Given the description of an element on the screen output the (x, y) to click on. 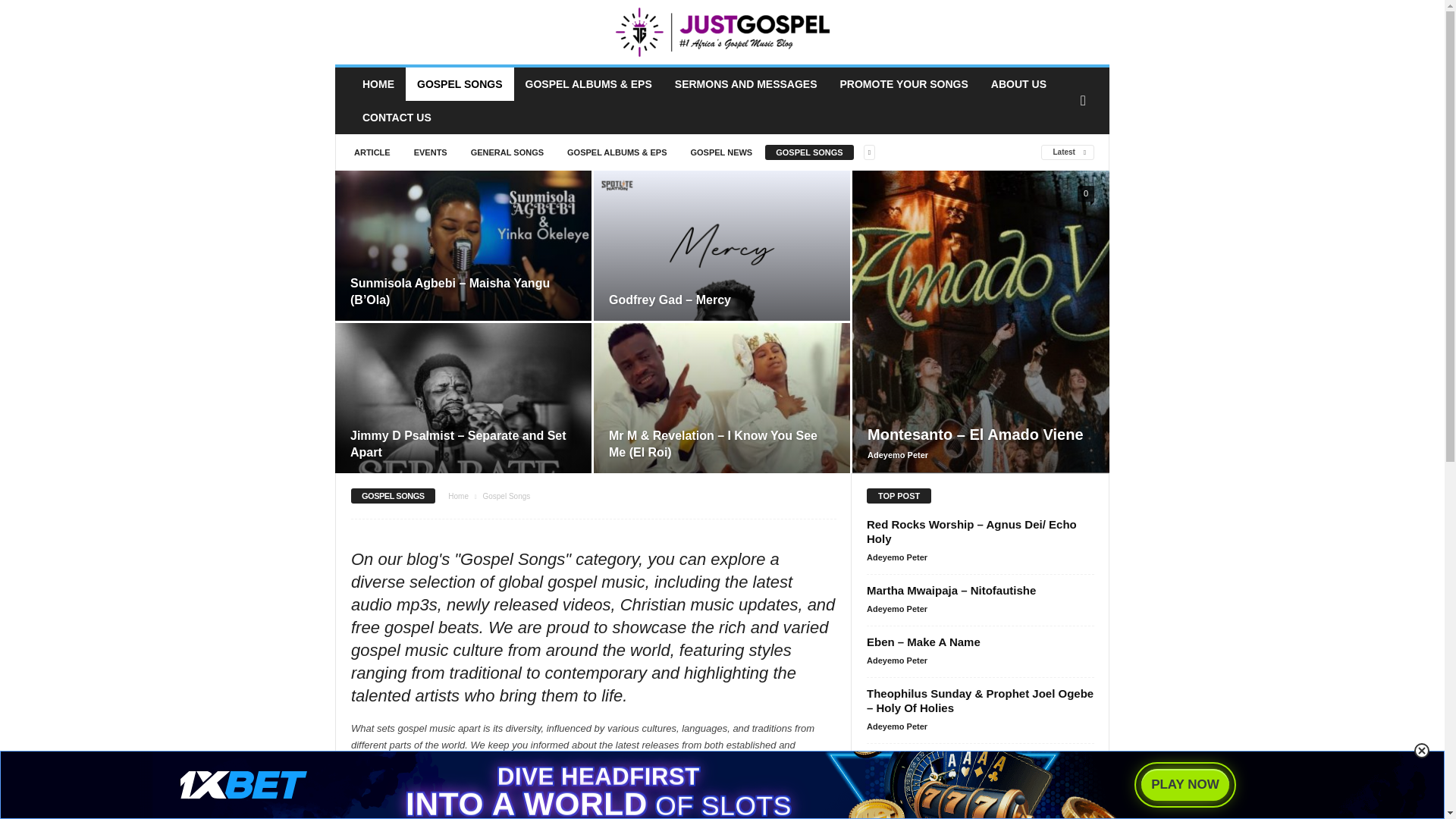
GOSPEL NEWS (720, 151)
ARTICLE (372, 151)
GOSPEL SONGS (459, 83)
GENERAL SONGS (507, 151)
JustGospel (721, 32)
SERMONS AND MESSAGES (745, 83)
CONTACT US (396, 117)
ABOUT US (1018, 83)
GOSPEL SONGS (809, 151)
PROMOTE YOUR SONGS (903, 83)
EVENTS (430, 151)
HOME (378, 83)
